Given the description of an element on the screen output the (x, y) to click on. 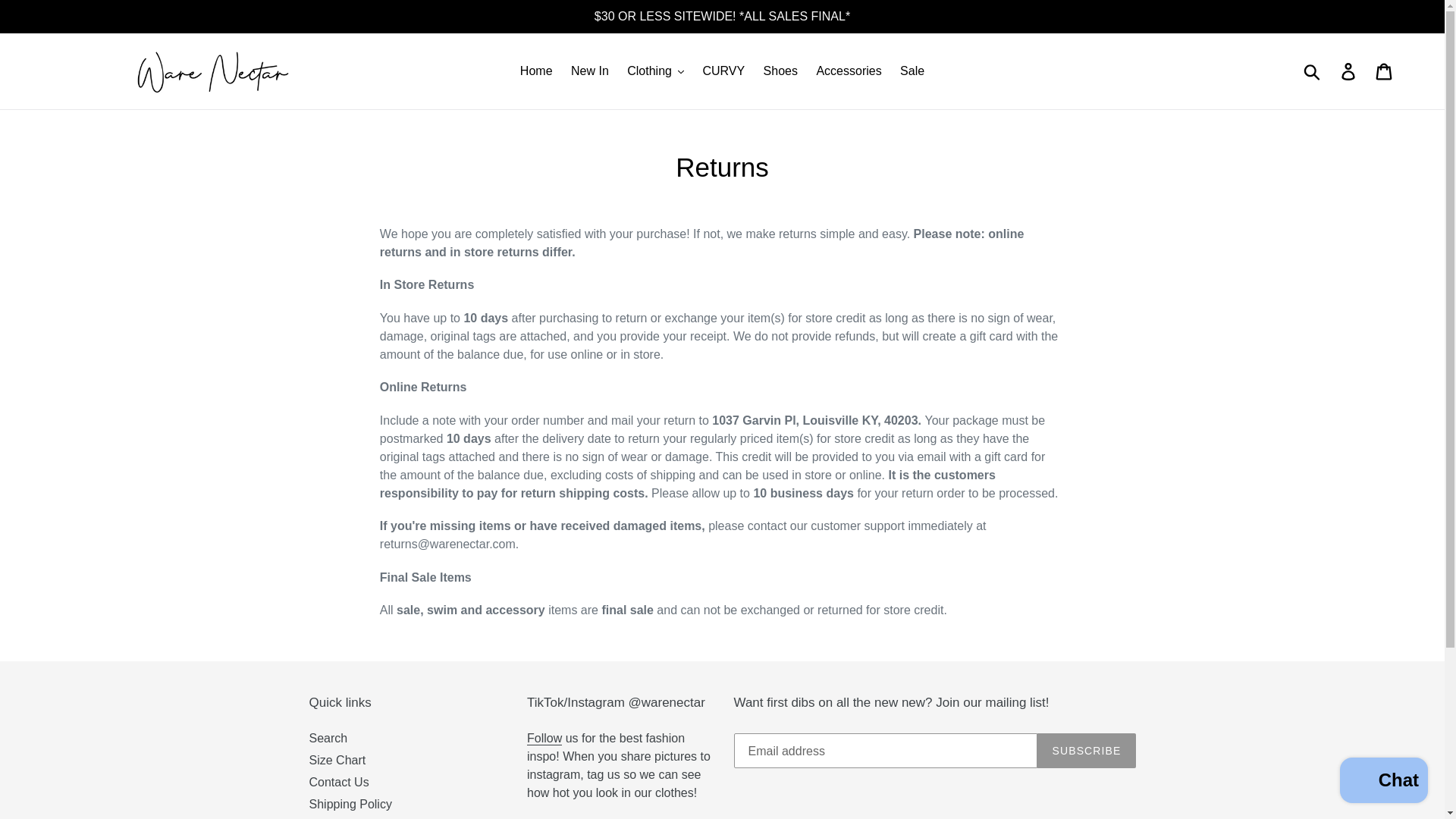
Accessories (848, 70)
Home (536, 70)
Shoes (780, 70)
New In (589, 70)
Cart (1385, 70)
CURVY (723, 70)
Shopify online store chat (1383, 781)
Sale (911, 70)
Submit (1313, 70)
Log in (1349, 70)
